Given the description of an element on the screen output the (x, y) to click on. 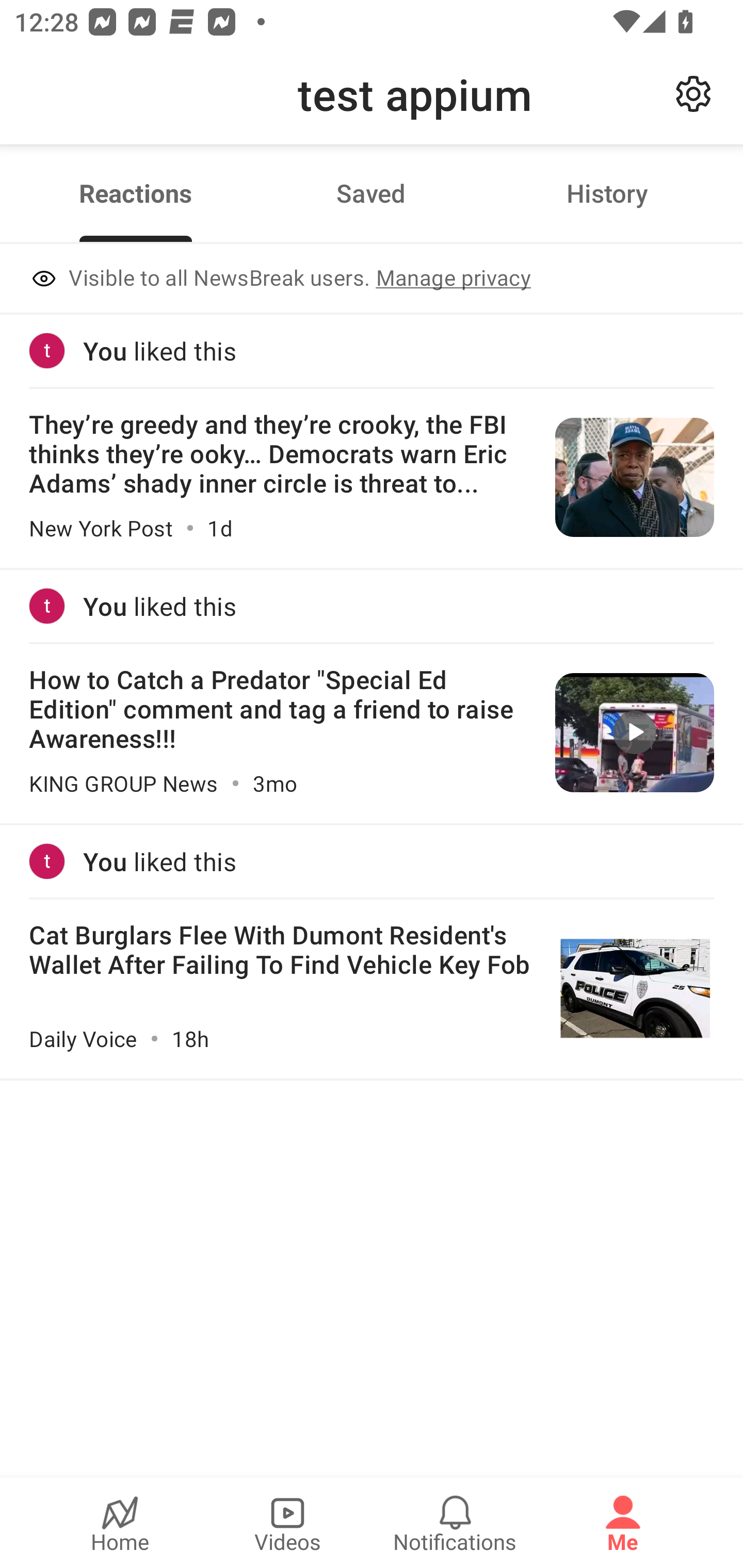
Saved (370, 192)
History (606, 192)
Visible to all NewsBreak users.  Manage privacy (371, 279)
Home (119, 1522)
Videos (287, 1522)
Notifications (455, 1522)
